Given the description of an element on the screen output the (x, y) to click on. 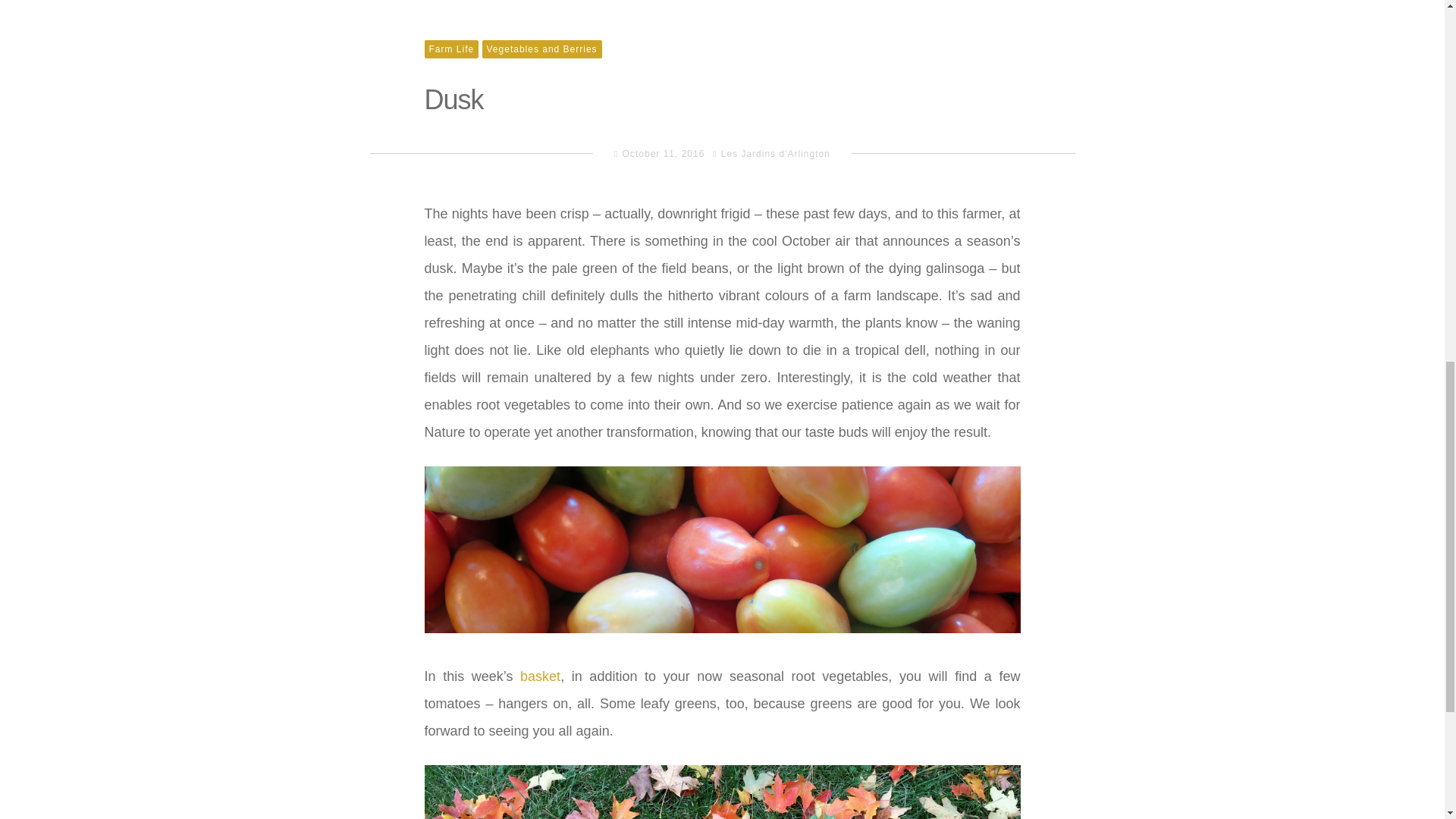
basket (539, 676)
Les Jardins d'Arlington (774, 153)
Farm Life (452, 49)
Vegetables and Berries (541, 49)
